Given the description of an element on the screen output the (x, y) to click on. 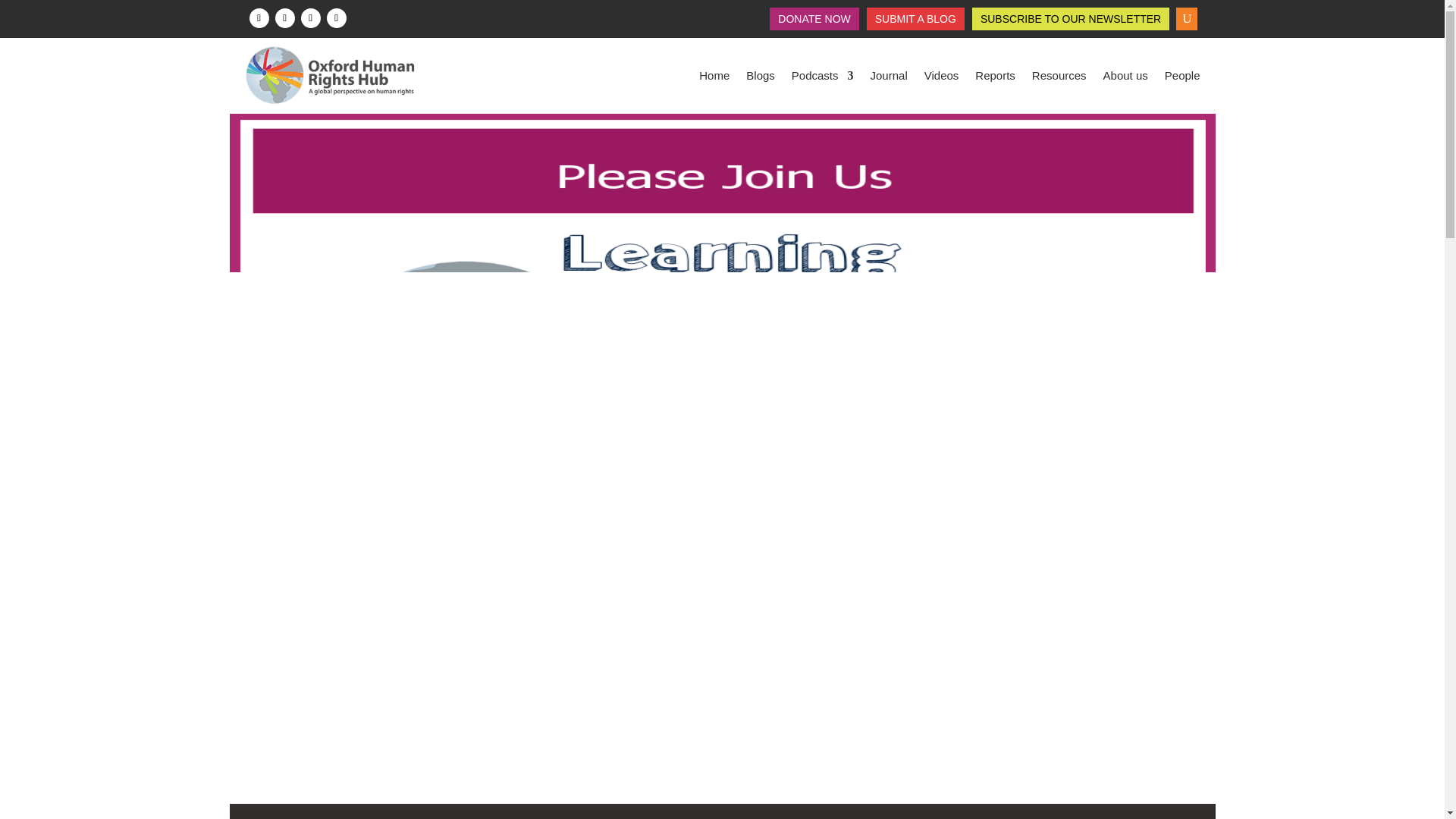
Home (713, 75)
Follow on X (284, 17)
People (1181, 75)
DONATE NOW (813, 21)
Podcasts (822, 75)
Follow on Flickr (336, 17)
SUBMIT A BLOG (915, 21)
Follow on LinkedIn (309, 17)
SUBSCRIBE TO OUR NEWSLETTER (1069, 21)
Journal (888, 75)
